Given the description of an element on the screen output the (x, y) to click on. 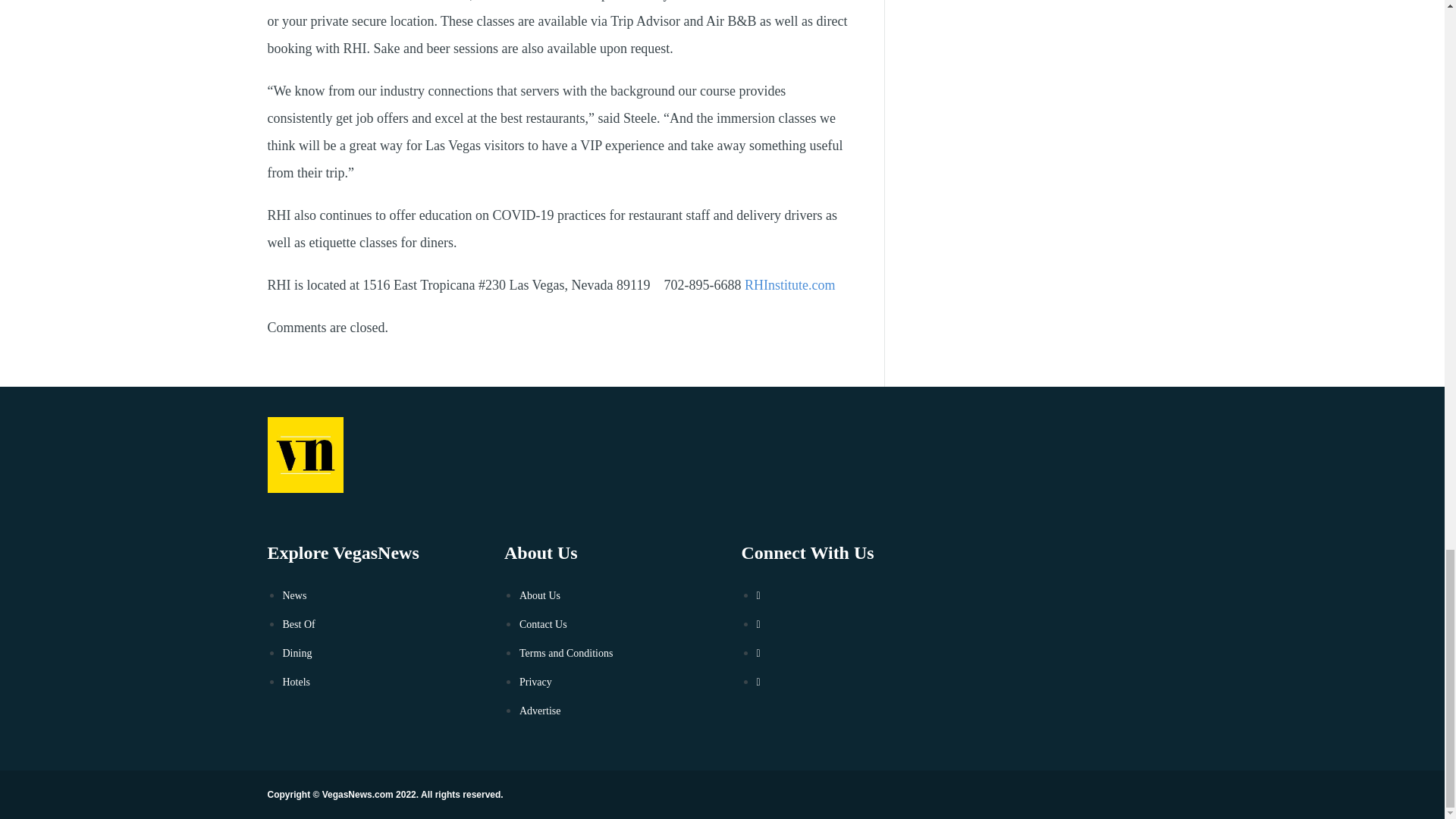
Privacy (535, 681)
RHInstitute.com  (791, 284)
Best Of (298, 624)
Hotels (296, 681)
Contact Us (543, 624)
Advertise (539, 710)
News (293, 595)
Terms and Conditions (565, 653)
About Us (539, 595)
Dining (296, 653)
